Given the description of an element on the screen output the (x, y) to click on. 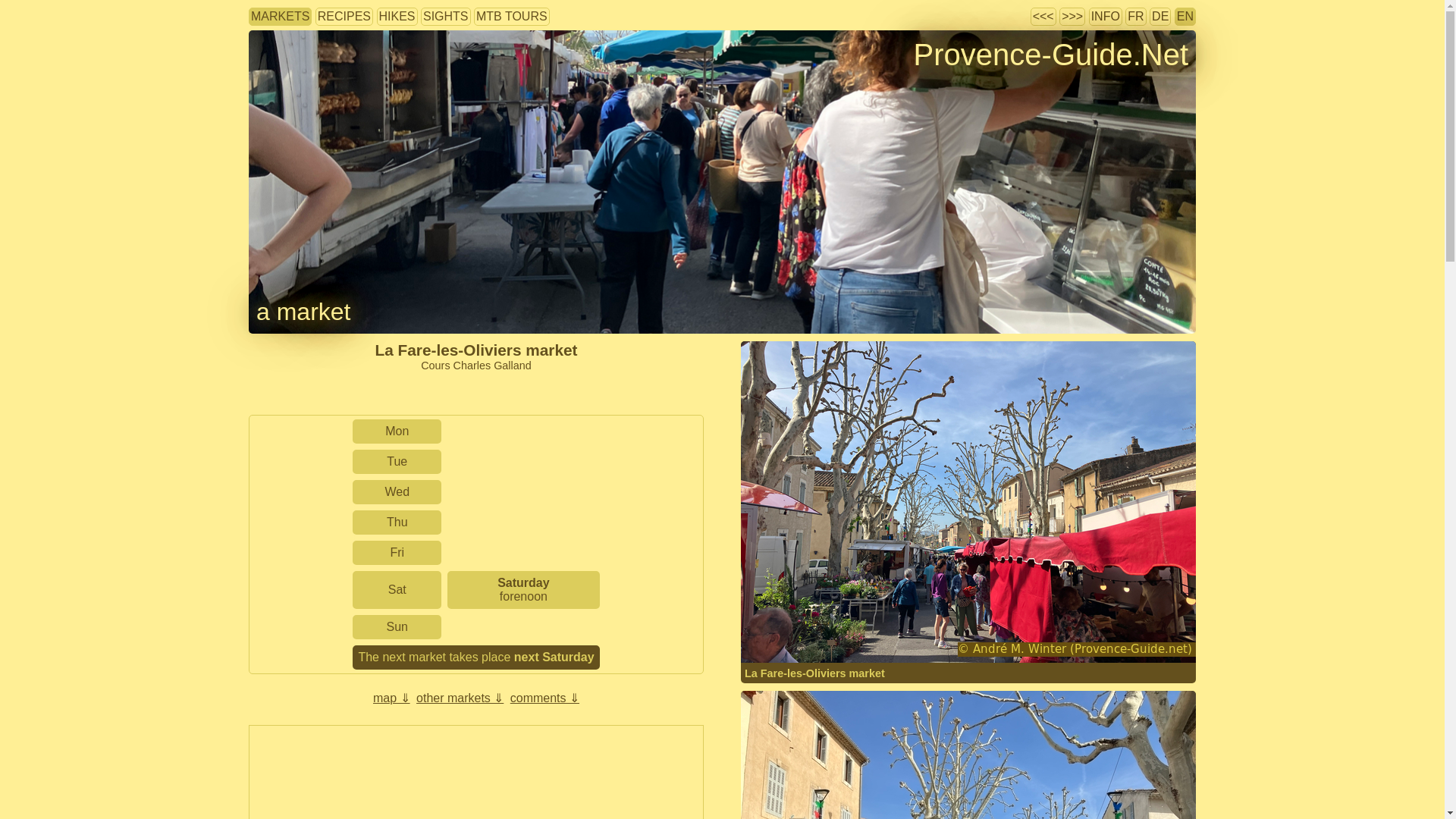
Tuesday (397, 461)
a market (303, 311)
all unique sights (445, 15)
main page (1051, 54)
meat products (509, 393)
See this page in German (1160, 15)
authors, rights, your data, legal notices etc. (1104, 15)
INFO (1104, 15)
SIGHTS (445, 15)
See this page in English (1184, 15)
